Given the description of an element on the screen output the (x, y) to click on. 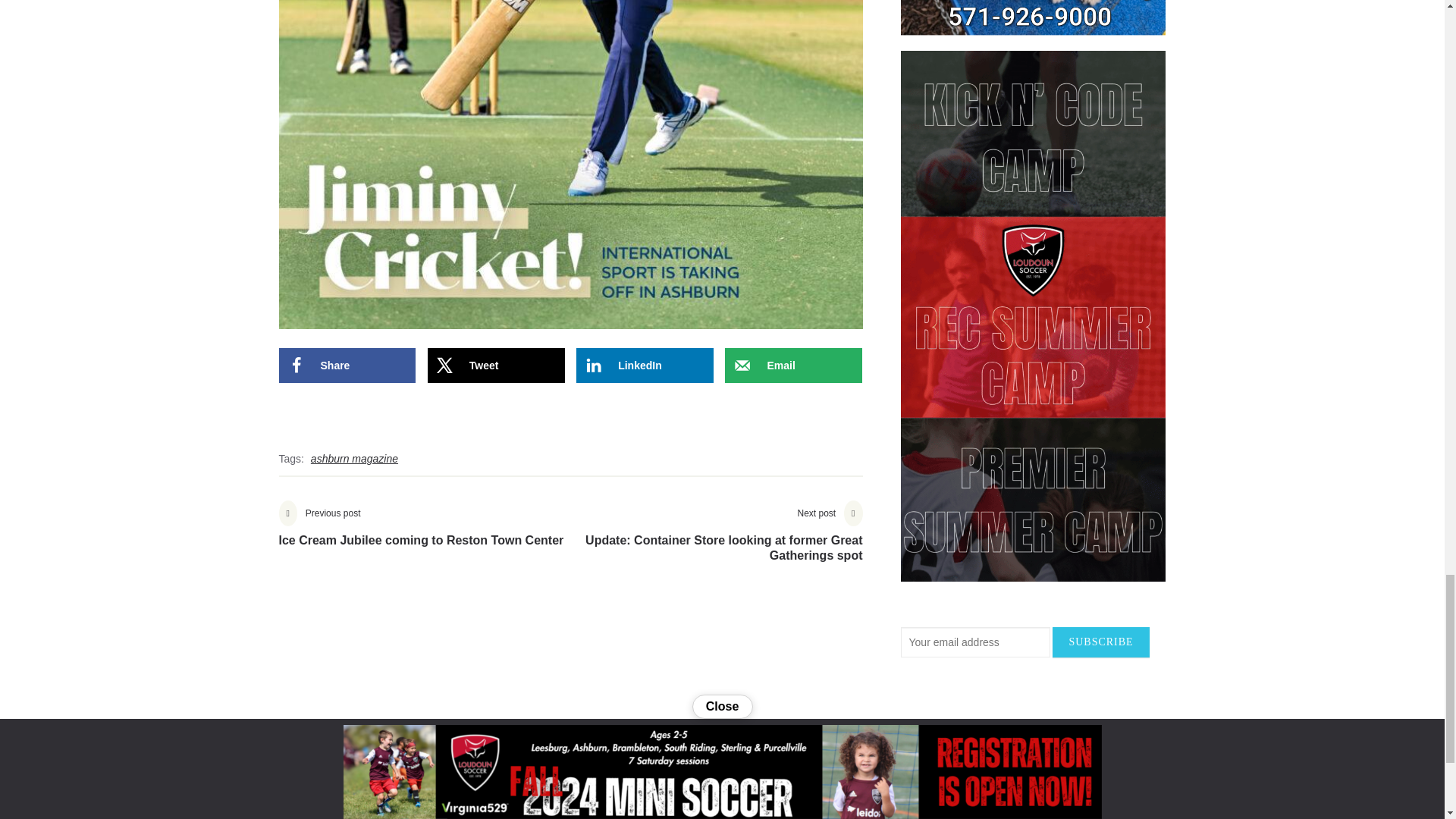
Email (793, 365)
Share on LinkedIn (421, 534)
ashburn magazine (644, 365)
Share (354, 458)
next post (347, 365)
prev post (715, 542)
Send over email (421, 534)
LinkedIn (793, 365)
Tweet (644, 365)
Share on X (496, 365)
Subscribe (496, 365)
Share on Facebook (1100, 642)
300x300 Club K9 Play (347, 365)
